Given the description of an element on the screen output the (x, y) to click on. 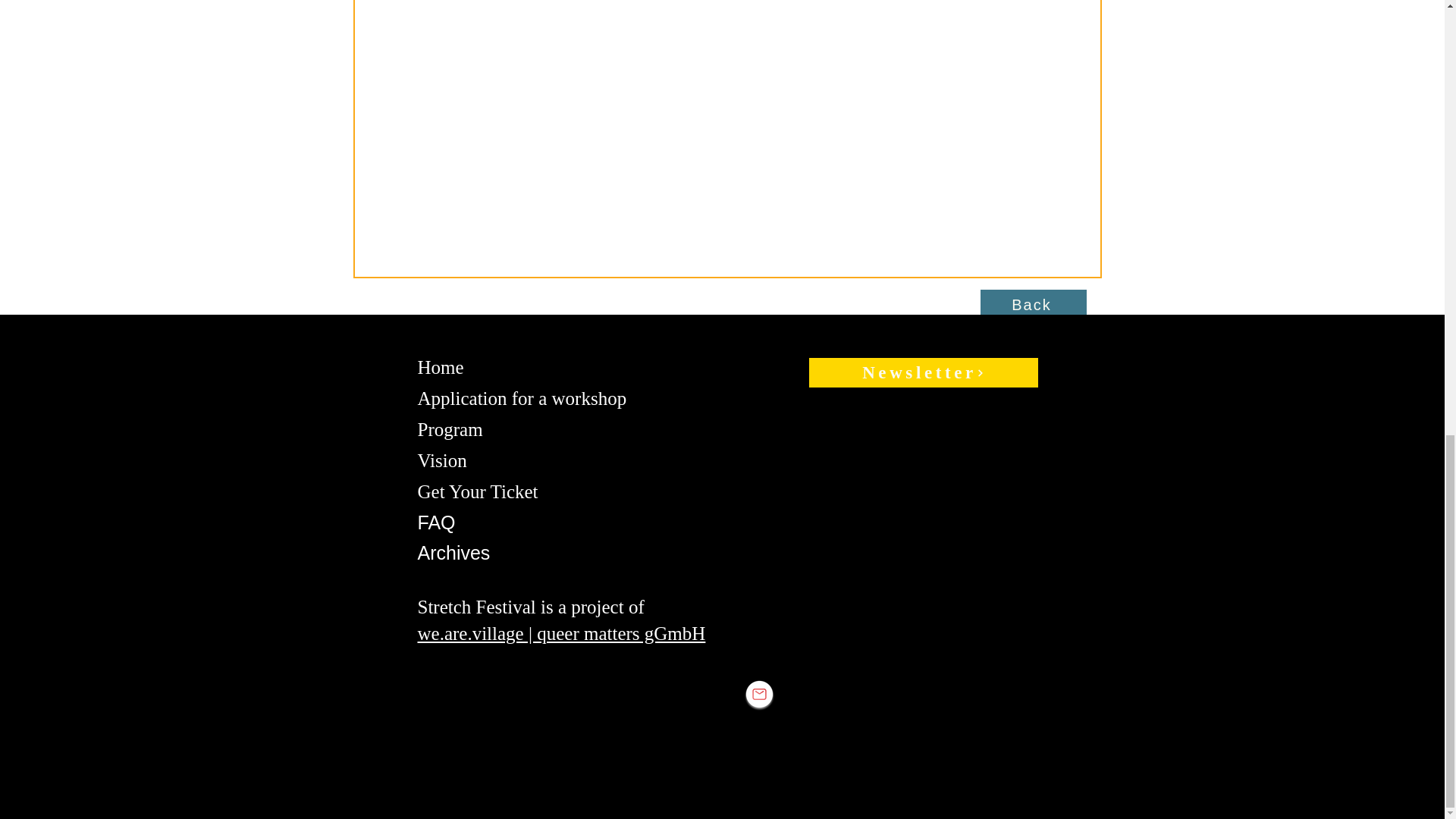
Back (1032, 304)
Get Your Ticket (476, 491)
Application for a workshop (521, 397)
Vision (440, 459)
Home (439, 366)
Archives (452, 552)
FAQ (435, 522)
Program (448, 428)
Newsletter (922, 372)
